Given the description of an element on the screen output the (x, y) to click on. 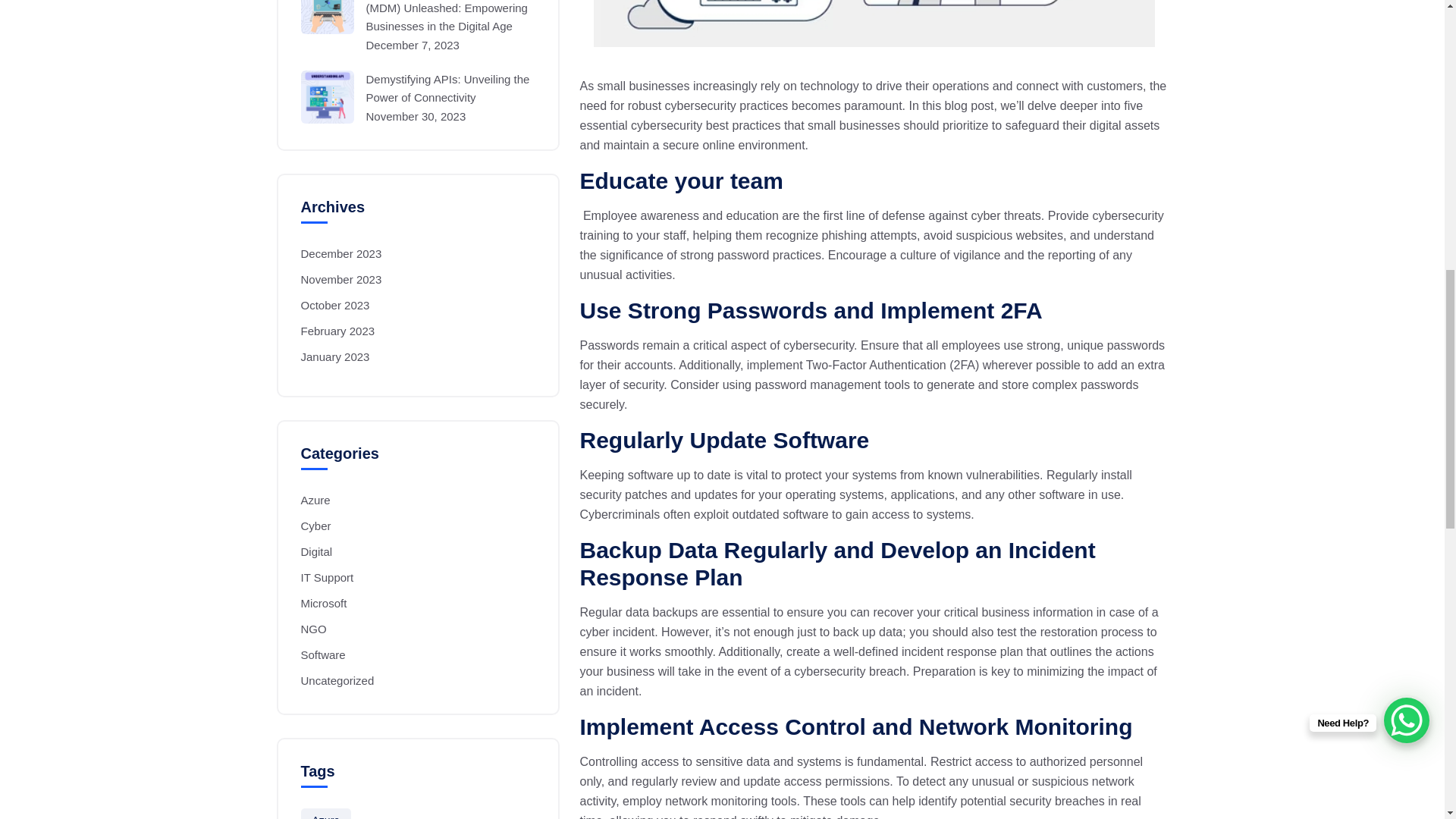
Azure (315, 499)
January 2023 (335, 356)
October 2023 (335, 305)
Demystifying APIs: Unveiling the Power of Connectivity (418, 88)
Microsoft (324, 603)
November 2023 (341, 278)
December 2023 (341, 253)
Cyber (316, 525)
IT Support (327, 576)
February 2023 (338, 330)
